Given the description of an element on the screen output the (x, y) to click on. 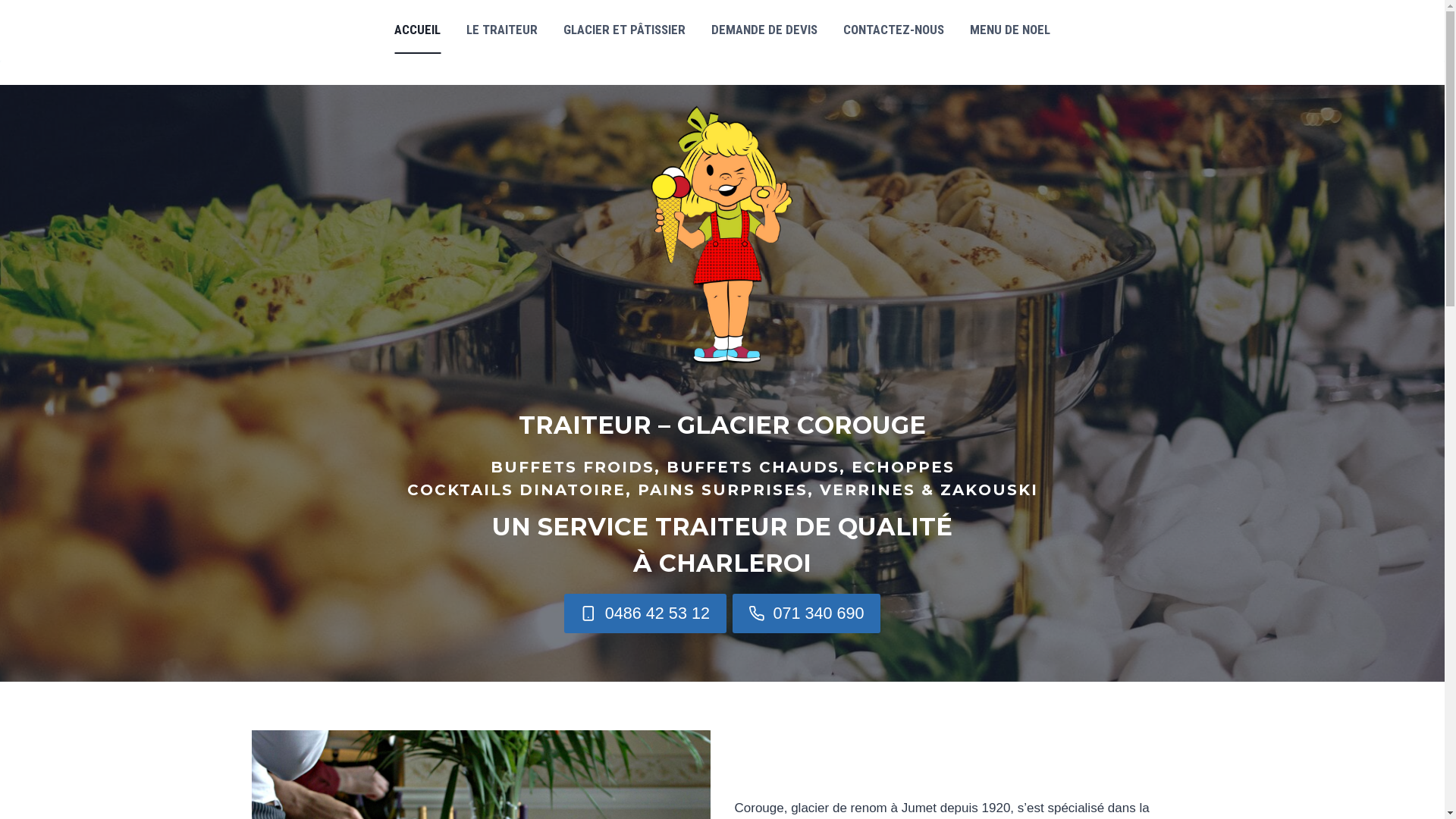
ACCUEIL Element type: text (417, 29)
071 340 690 Element type: text (806, 613)
0486 42 53 12 Element type: text (645, 613)
MENU DE NOEL Element type: text (1010, 29)
DEMANDE DE DEVIS Element type: text (764, 29)
CONTACTEZ-NOUS Element type: text (893, 29)
LE TRAITEUR Element type: text (501, 29)
